Given the description of an element on the screen output the (x, y) to click on. 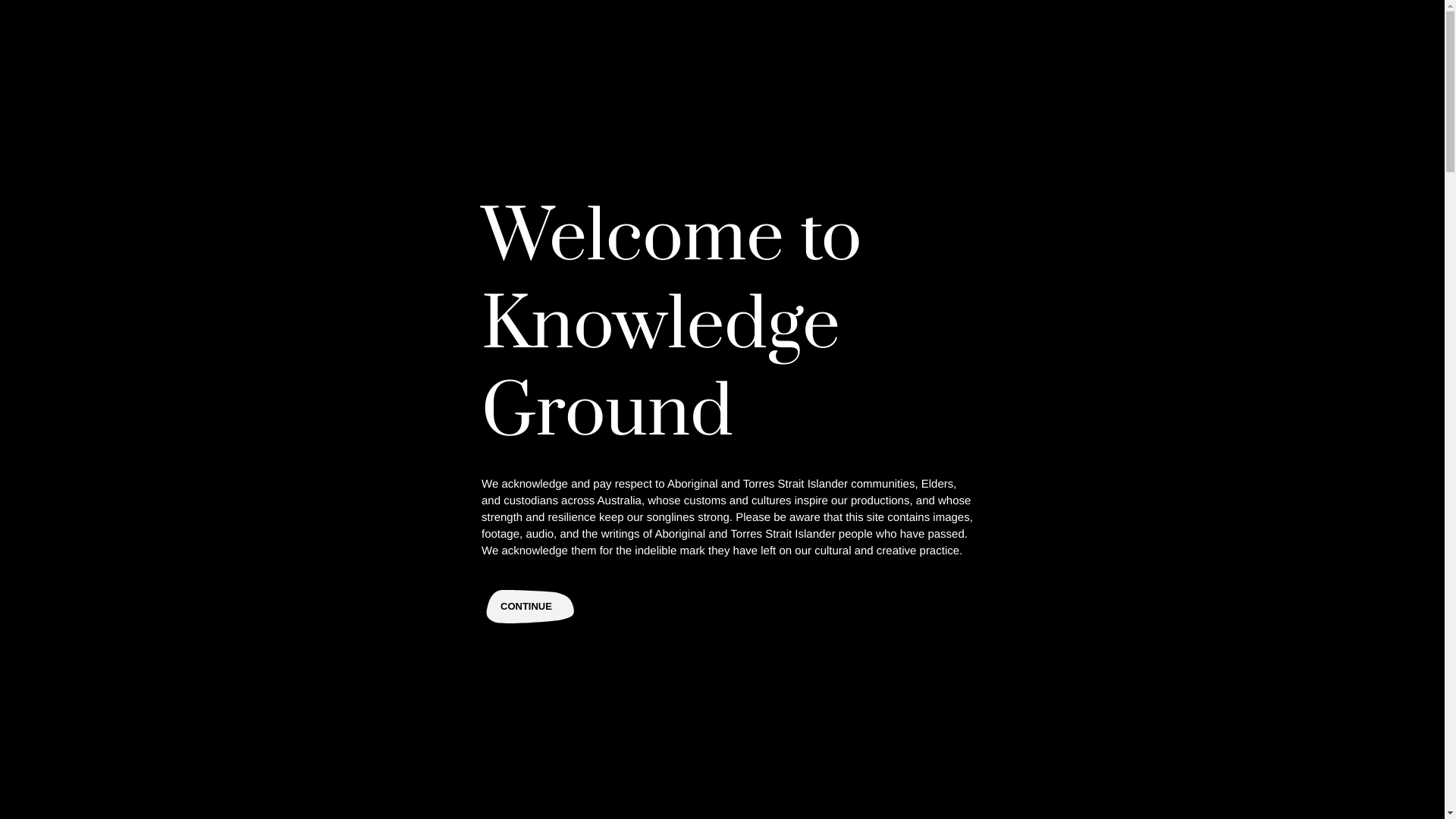
INSTAGRAM Element type: text (993, 746)
Bangarra Element type: hover (87, 745)
PLACES Element type: text (65, 615)
Privacy Element type: text (263, 792)
SEARCH Element type: text (66, 662)
Community Element type: text (989, 617)
VISIT BANGARRA.COM.AU Element type: text (1026, 544)
Create NSW Element type: hover (392, 745)
SUBSCRIBE Element type: text (1105, 741)
Performances Element type: text (996, 568)
PRODUCTIONS Element type: text (81, 568)
Productions Element type: text (677, 497)
HOME Element type: text (60, 544)
YOUTUBE Element type: text (1050, 746)
Site by Northmost Element type: text (387, 792)
Cultural Creation Lifecycle Element type: text (451, 593)
Legal Element type: text (315, 792)
FACEBOOK Element type: text (965, 746)
Learning Element type: text (983, 592)
CONTINUE Element type: text (527, 606)
VISIT BANGARRA.COM.AU Element type: text (1365, 7)
Acknowledgements Element type: text (435, 569)
SEARCH Element type: text (1365, 37)
JOURNEYS Element type: text (72, 638)
Support Us Element type: text (989, 641)
TWITTER Element type: text (1022, 746)
PEOPLE Element type: text (65, 591)
About Element type: text (403, 545)
Shop Element type: text (975, 665)
Indigenous Cultural & Intellectual Property Policy Element type: text (504, 617)
The Australia Council for the Arts Element type: hover (239, 745)
